Given the description of an element on the screen output the (x, y) to click on. 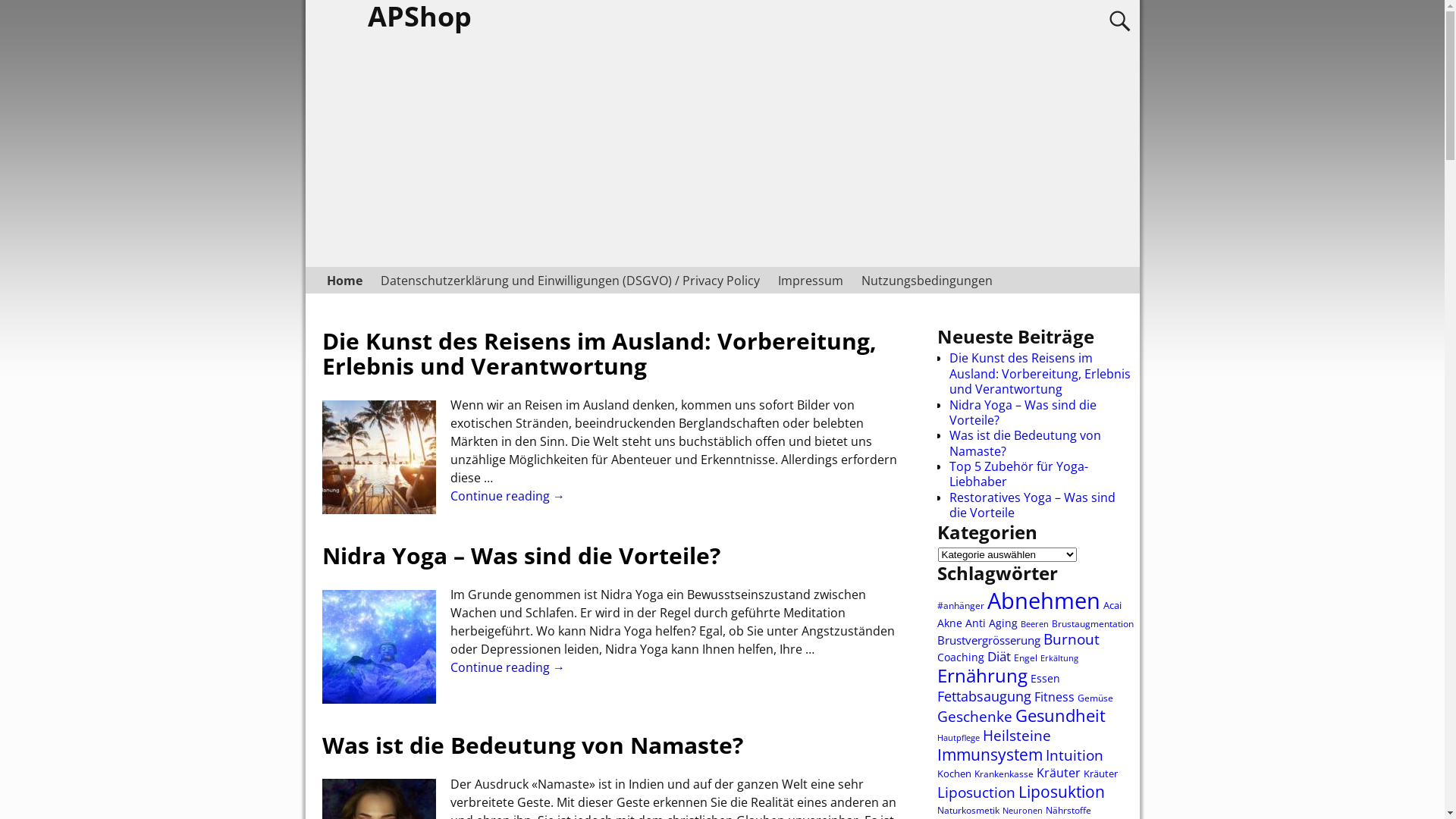
Kochen Element type: text (954, 773)
Home Element type: text (343, 279)
Immunsystem Element type: text (989, 754)
Fettabsaugung Element type: text (984, 696)
Krankenkasse Element type: text (1002, 773)
Abnehmen Element type: text (1043, 600)
Hautpflege Element type: text (958, 737)
Gesundheit Element type: text (1059, 715)
Intuition Element type: text (1073, 755)
Was ist die Bedeutung von Namaste? Element type: text (531, 744)
Was ist die Bedeutung von Namaste? Element type: text (1025, 442)
Naturkosmetik Element type: text (968, 809)
Burnout Element type: text (1071, 638)
Essen Element type: text (1044, 678)
Liposuktion Element type: text (1060, 791)
Neuronen Element type: text (1022, 810)
Beeren Element type: text (1034, 623)
Advertisement Element type: hover (721, 153)
Engel Element type: text (1024, 657)
Brustaugmentation Element type: text (1091, 623)
Heilsteine Element type: text (1016, 734)
Akne Element type: text (949, 622)
Acai Element type: text (1111, 604)
Impressum Element type: text (810, 279)
Liposuction Element type: text (976, 791)
Nutzungsbedingungen Element type: text (926, 279)
Geschenke Element type: text (974, 716)
Anti Aging Element type: text (990, 622)
Coaching Element type: text (960, 656)
Fitness Element type: text (1054, 696)
